Given the description of an element on the screen output the (x, y) to click on. 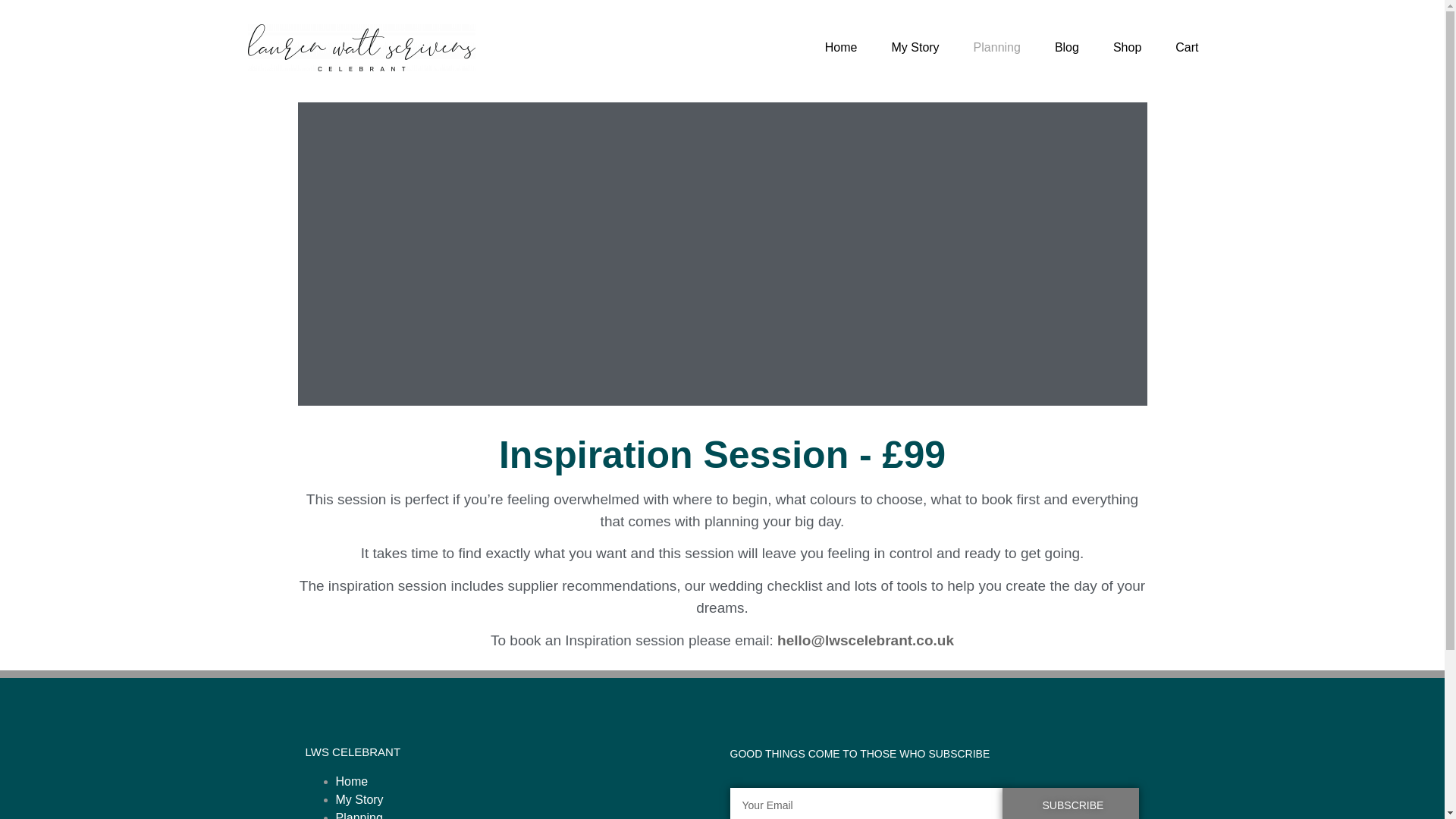
Planning (357, 815)
Shop (1126, 47)
Home (840, 47)
My Story (358, 799)
Blog (1066, 47)
Planning (996, 47)
My Story (914, 47)
Cart (1186, 47)
Home (351, 780)
SUBSCRIBE (1070, 803)
